Given the description of an element on the screen output the (x, y) to click on. 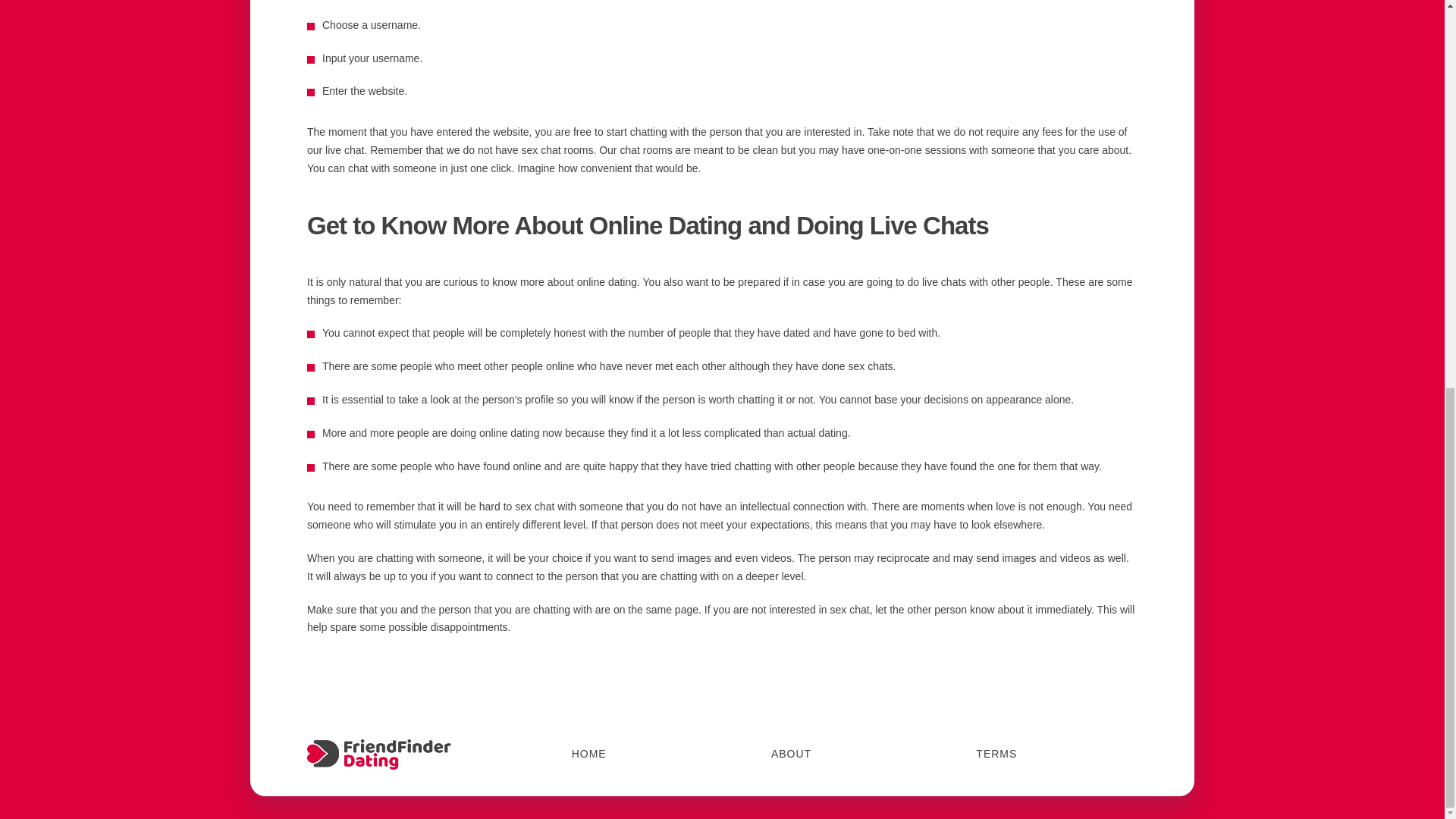
HOME (589, 754)
ABOUT (790, 754)
TERMS (995, 754)
